Given the description of an element on the screen output the (x, y) to click on. 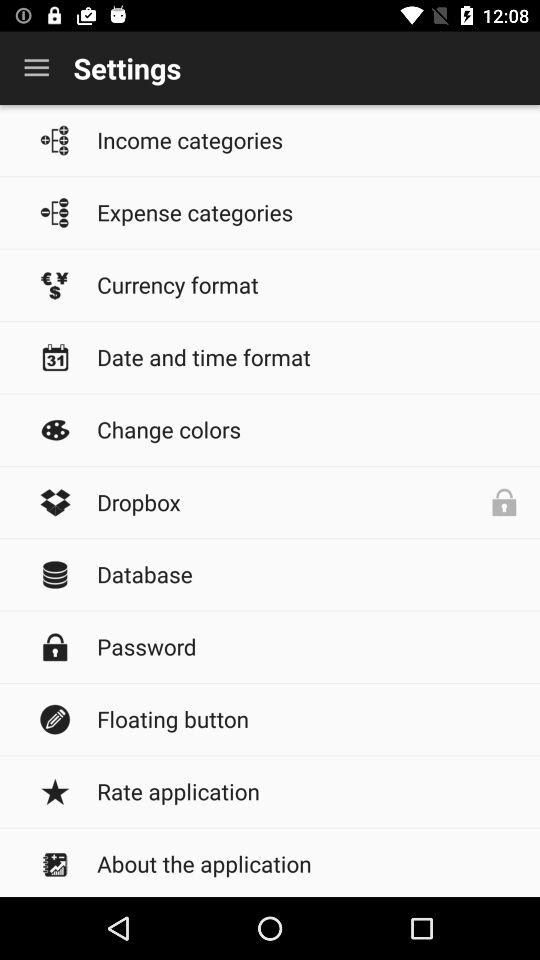
turn off the password icon (308, 646)
